Given the description of an element on the screen output the (x, y) to click on. 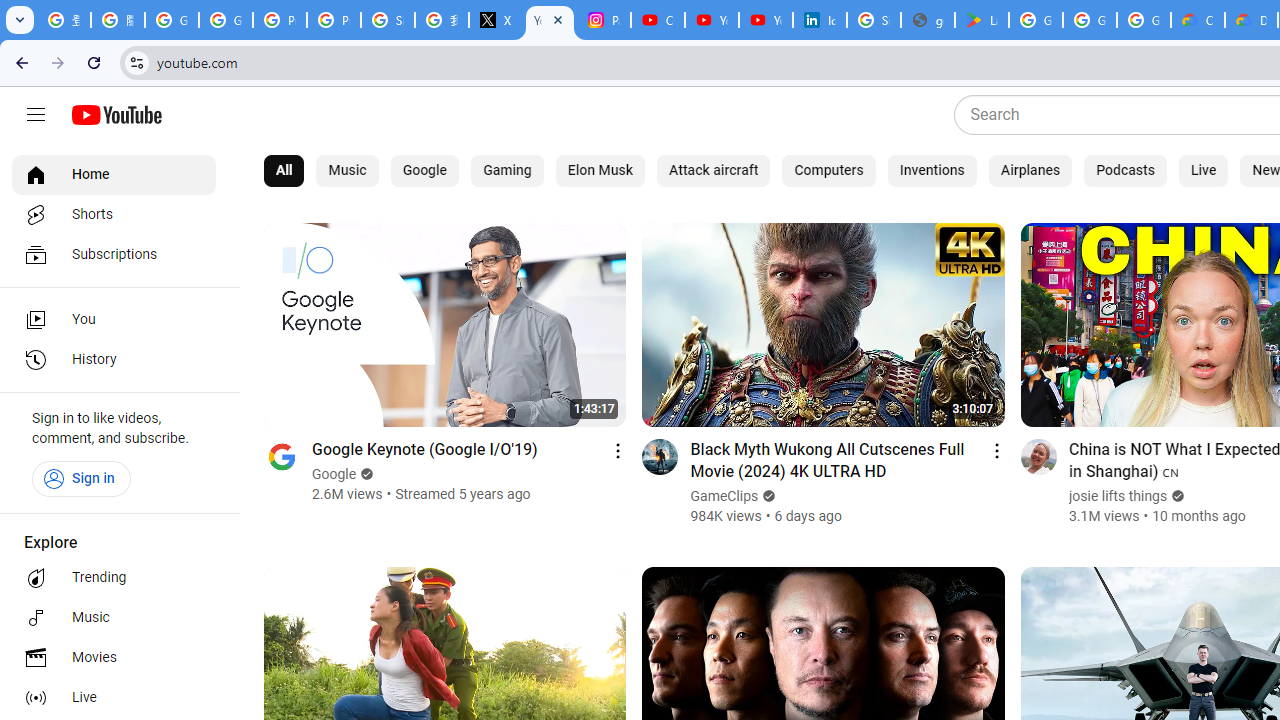
Gaming (507, 170)
Inventions (931, 170)
X (495, 20)
Go to channel (1038, 456)
Podcasts (1125, 170)
Verified (1176, 495)
josie lifts things (1117, 496)
Music (113, 617)
Privacy Help Center - Policies Help (333, 20)
YouTube Culture & Trends - YouTube Top 10, 2021 (765, 20)
Trending (113, 578)
